Given the description of an element on the screen output the (x, y) to click on. 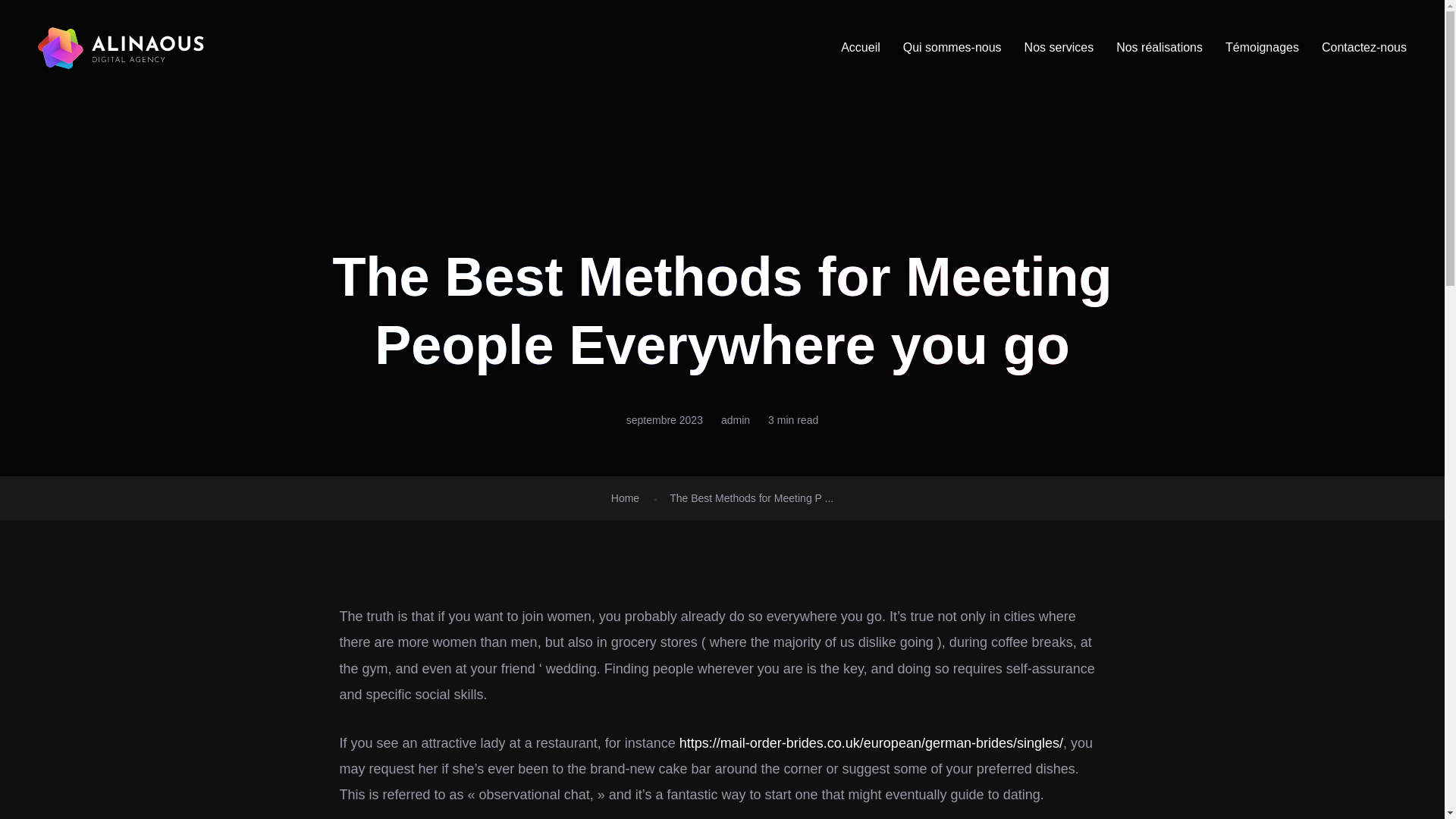
Home (625, 498)
ALINAOUS (121, 47)
Qui sommes-nous (951, 47)
Contactez-nous (1364, 47)
Nos services (1059, 47)
The Best Methods for Meeting People Everywhere you go (750, 498)
Home (625, 498)
